Given the description of an element on the screen output the (x, y) to click on. 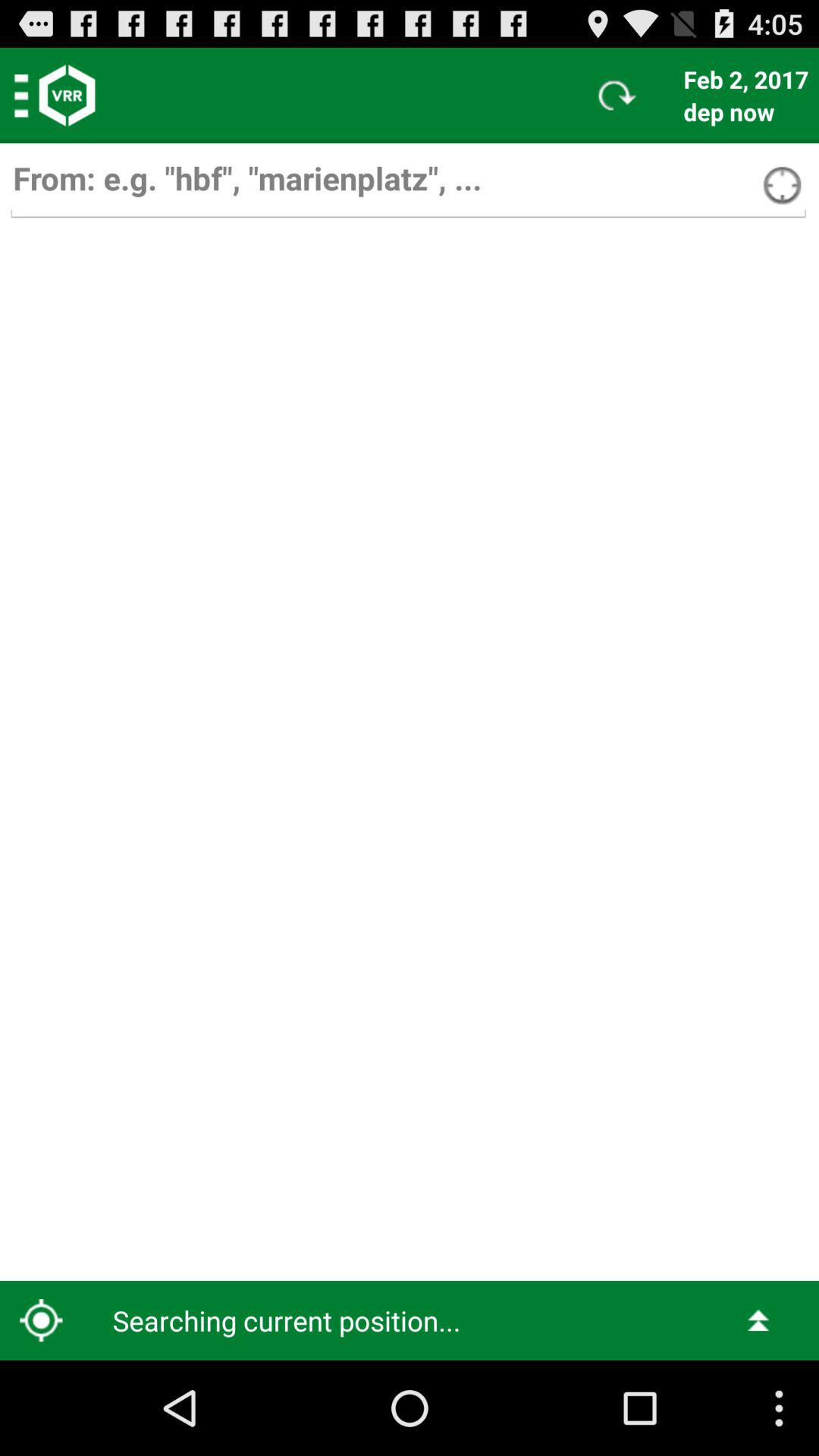
launch item at the center (409, 751)
